Given the description of an element on the screen output the (x, y) to click on. 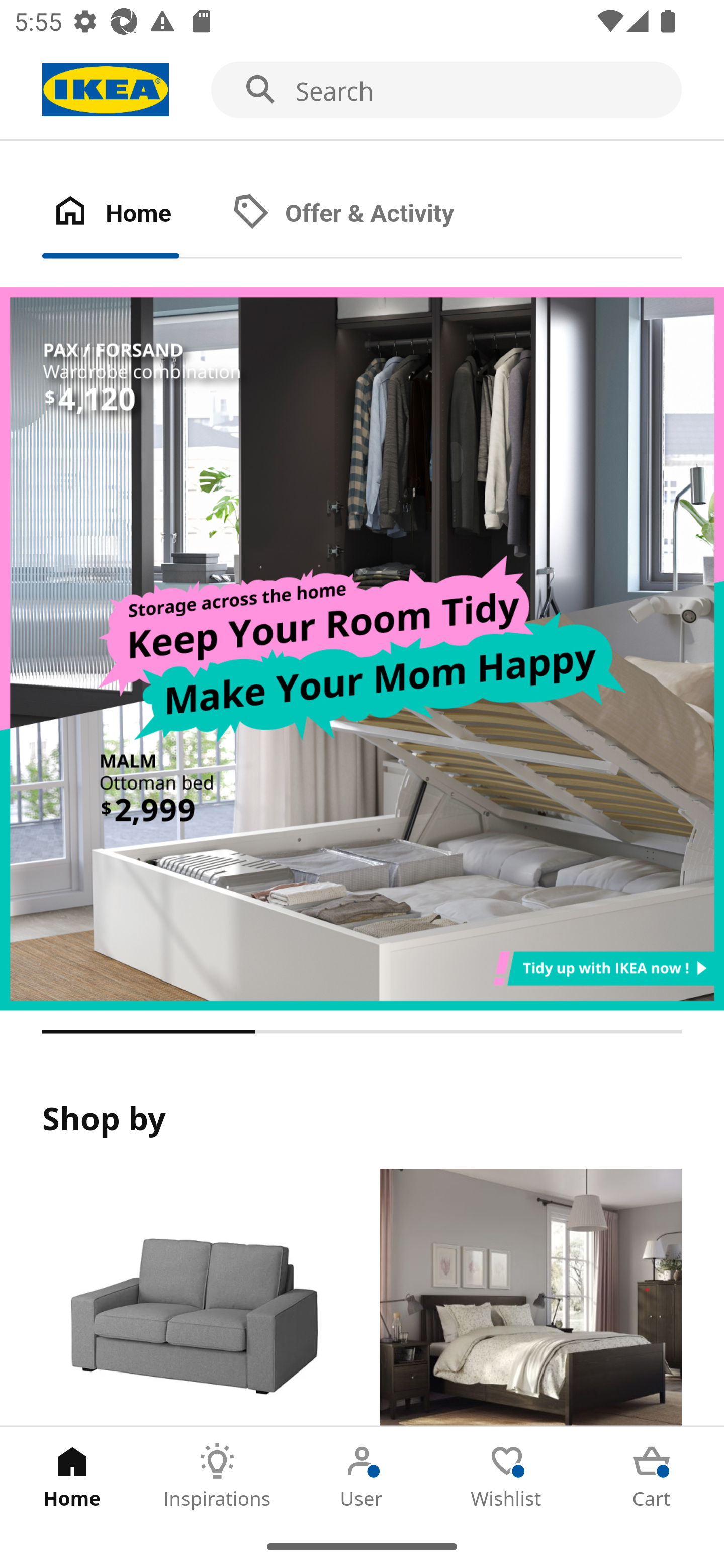
Search (361, 90)
Home
Tab 1 of 2 (131, 213)
Offer & Activity
Tab 2 of 2 (363, 213)
Products (192, 1297)
Rooms (530, 1297)
Home
Tab 1 of 5 (72, 1476)
Inspirations
Tab 2 of 5 (216, 1476)
User
Tab 3 of 5 (361, 1476)
Wishlist
Tab 4 of 5 (506, 1476)
Cart
Tab 5 of 5 (651, 1476)
